Given the description of an element on the screen output the (x, y) to click on. 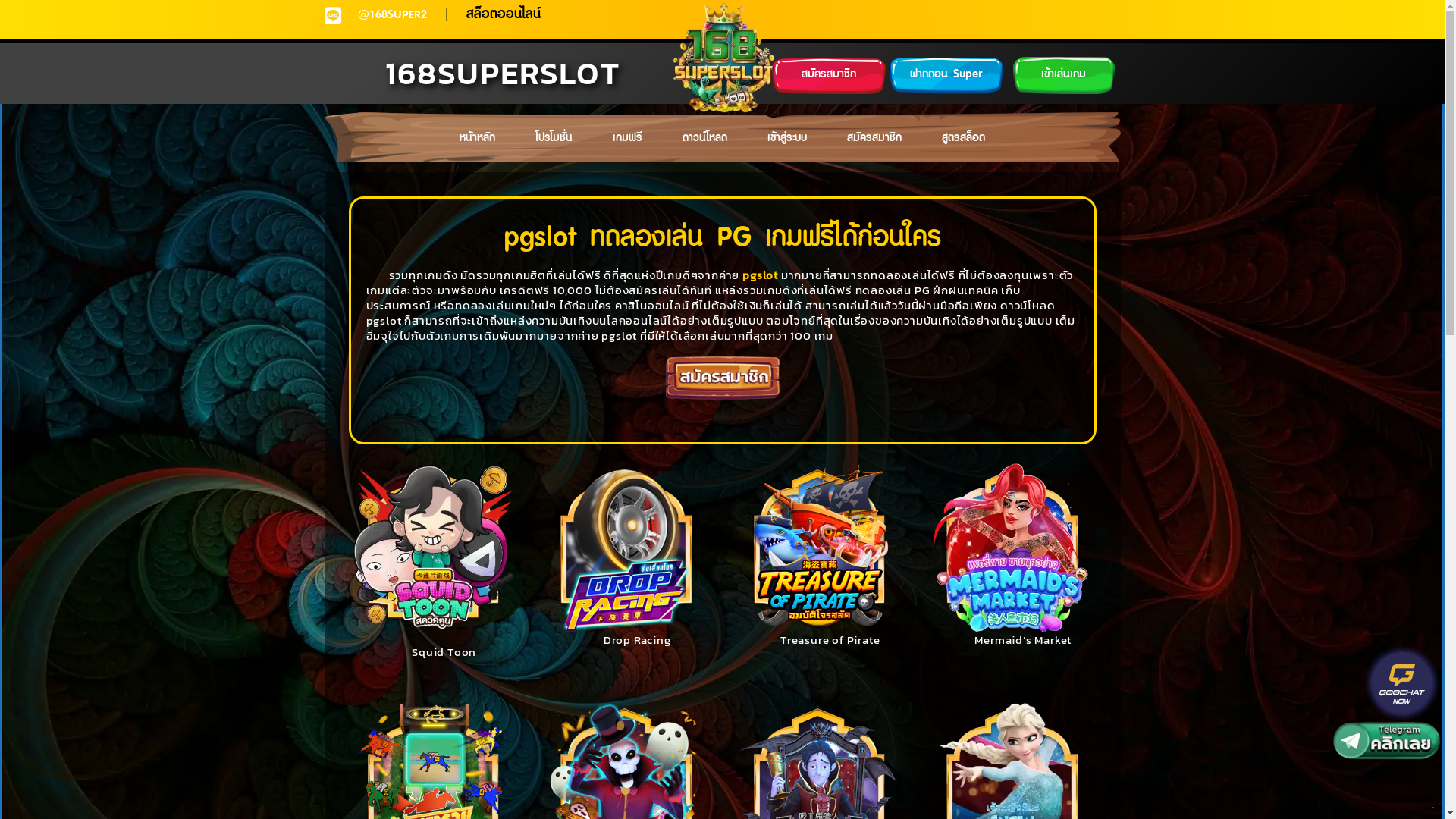
@168SUPER2 Element type: text (391, 14)
